Given the description of an element on the screen output the (x, y) to click on. 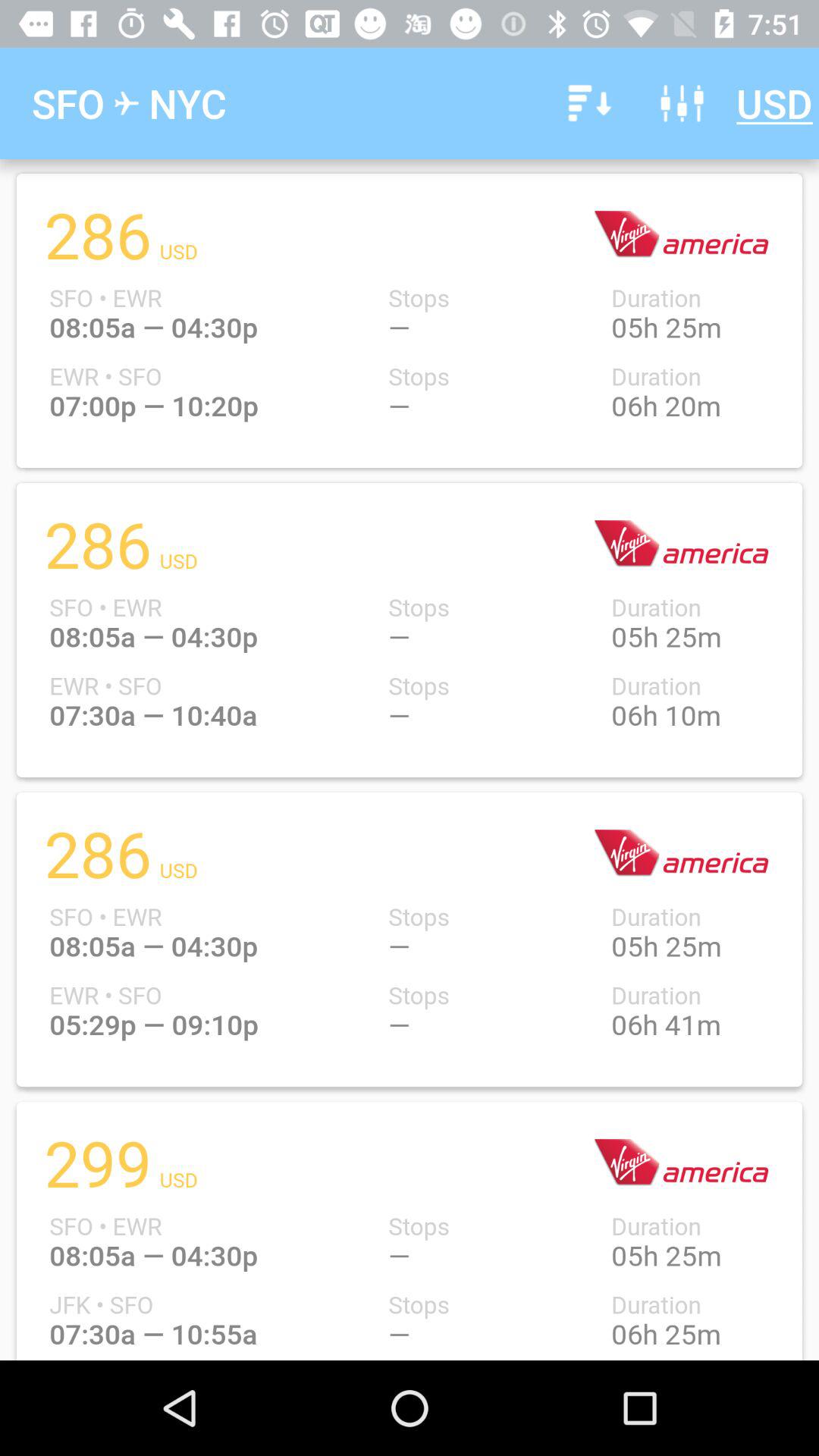
launch the icon to the right of the nyc (586, 103)
